Given the description of an element on the screen output the (x, y) to click on. 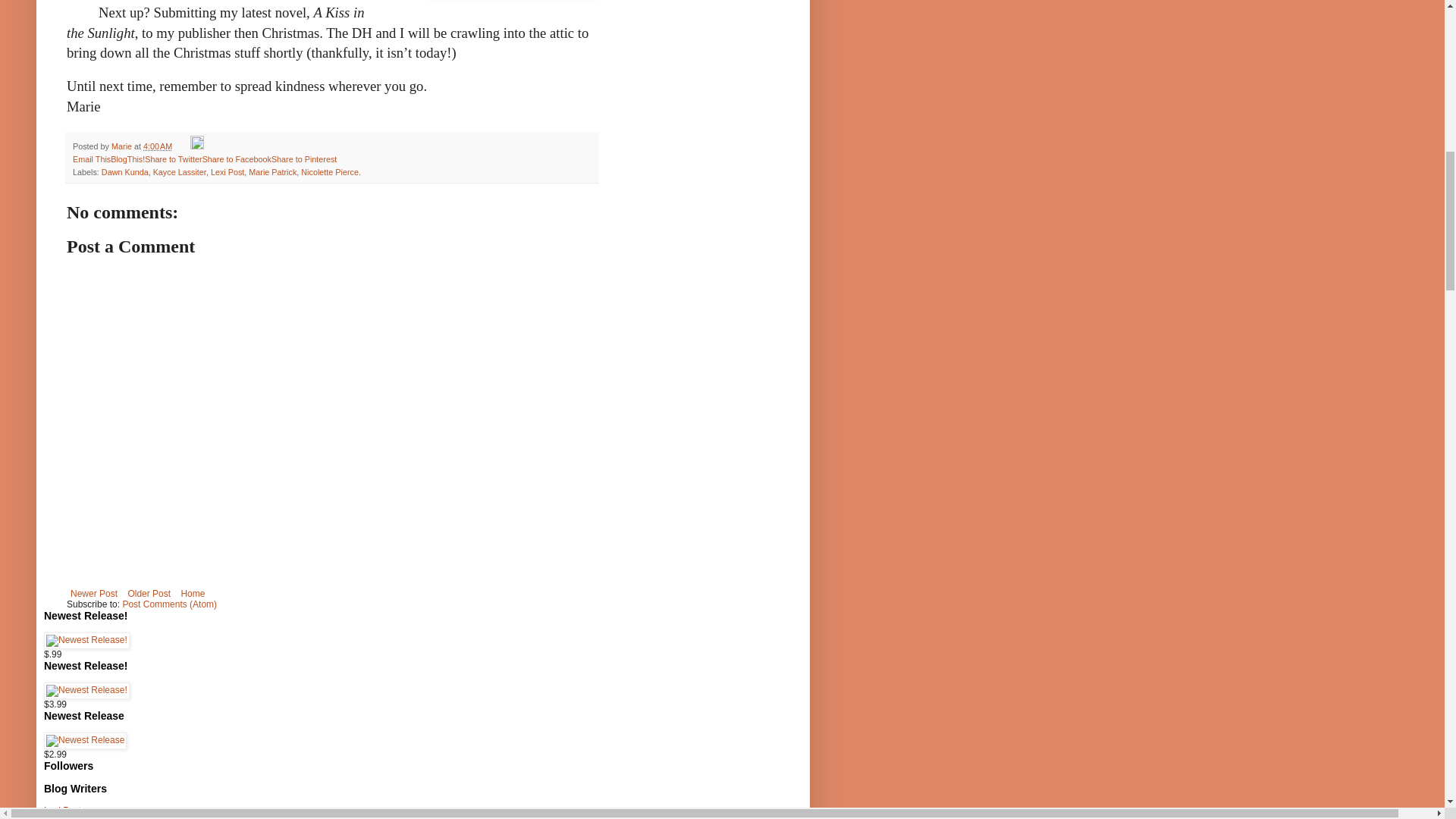
Share to Pinterest (303, 158)
Older Post (148, 593)
Email This (91, 158)
Share to Twitter (173, 158)
Dawn Kunda (124, 171)
Home (192, 593)
Nicolette Pierce. (331, 171)
Older Post (148, 593)
Edit Post (196, 145)
Share to Facebook (236, 158)
Email This (91, 158)
Share to Pinterest (303, 158)
Kayce Lassiter (179, 171)
Newer Post (93, 593)
